Given the description of an element on the screen output the (x, y) to click on. 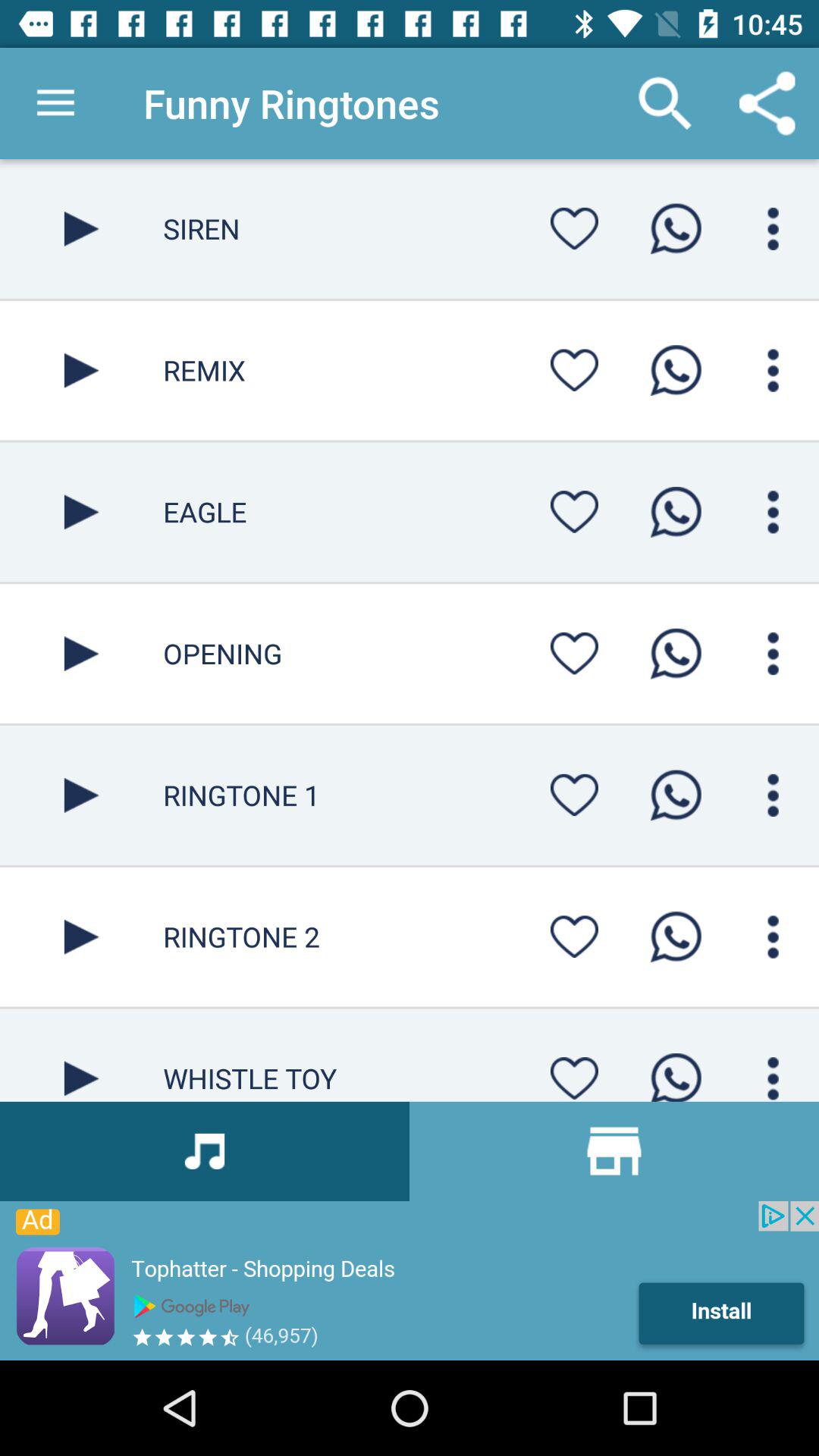
play the song (81, 370)
